Given the description of an element on the screen output the (x, y) to click on. 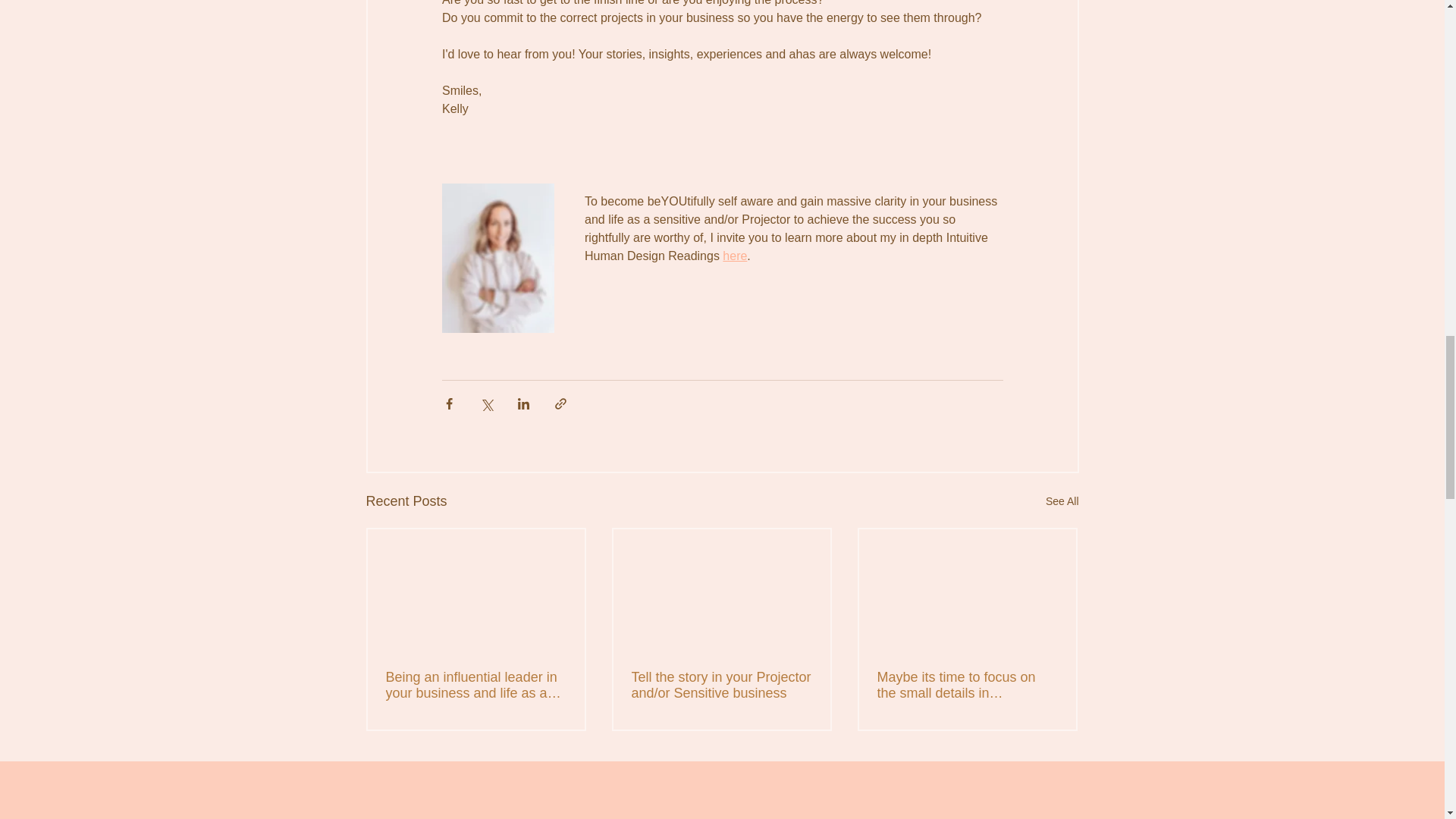
here (734, 255)
See All (1061, 501)
